Given the description of an element on the screen output the (x, y) to click on. 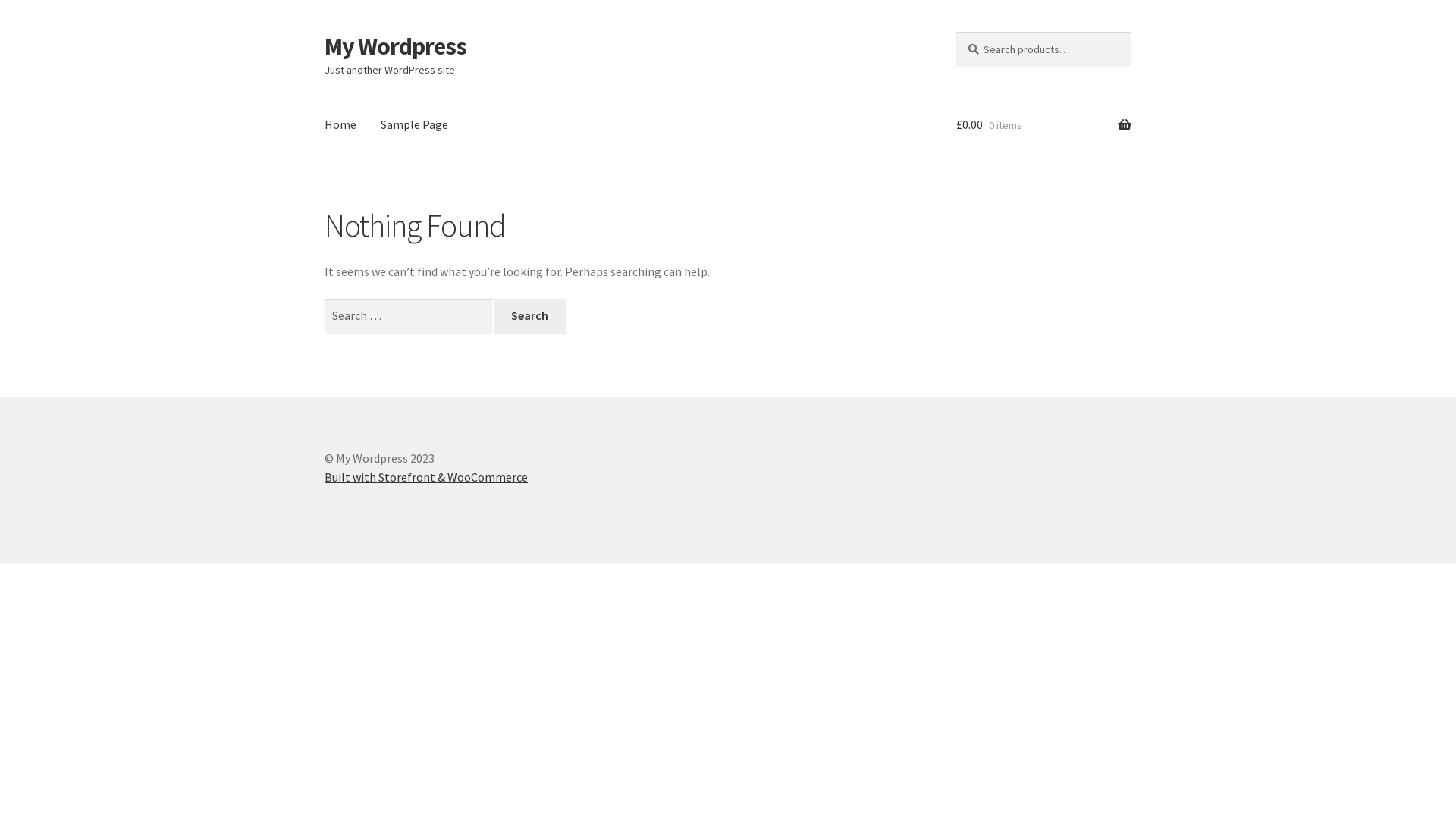
Sample Page Element type: text (414, 124)
Built with Storefront & WooCommerce Element type: text (425, 476)
My Wordpress Element type: text (395, 46)
Search Element type: text (529, 315)
Skip to navigation Element type: text (323, 31)
Search Element type: text (955, 31)
Home Element type: text (340, 124)
